Given the description of an element on the screen output the (x, y) to click on. 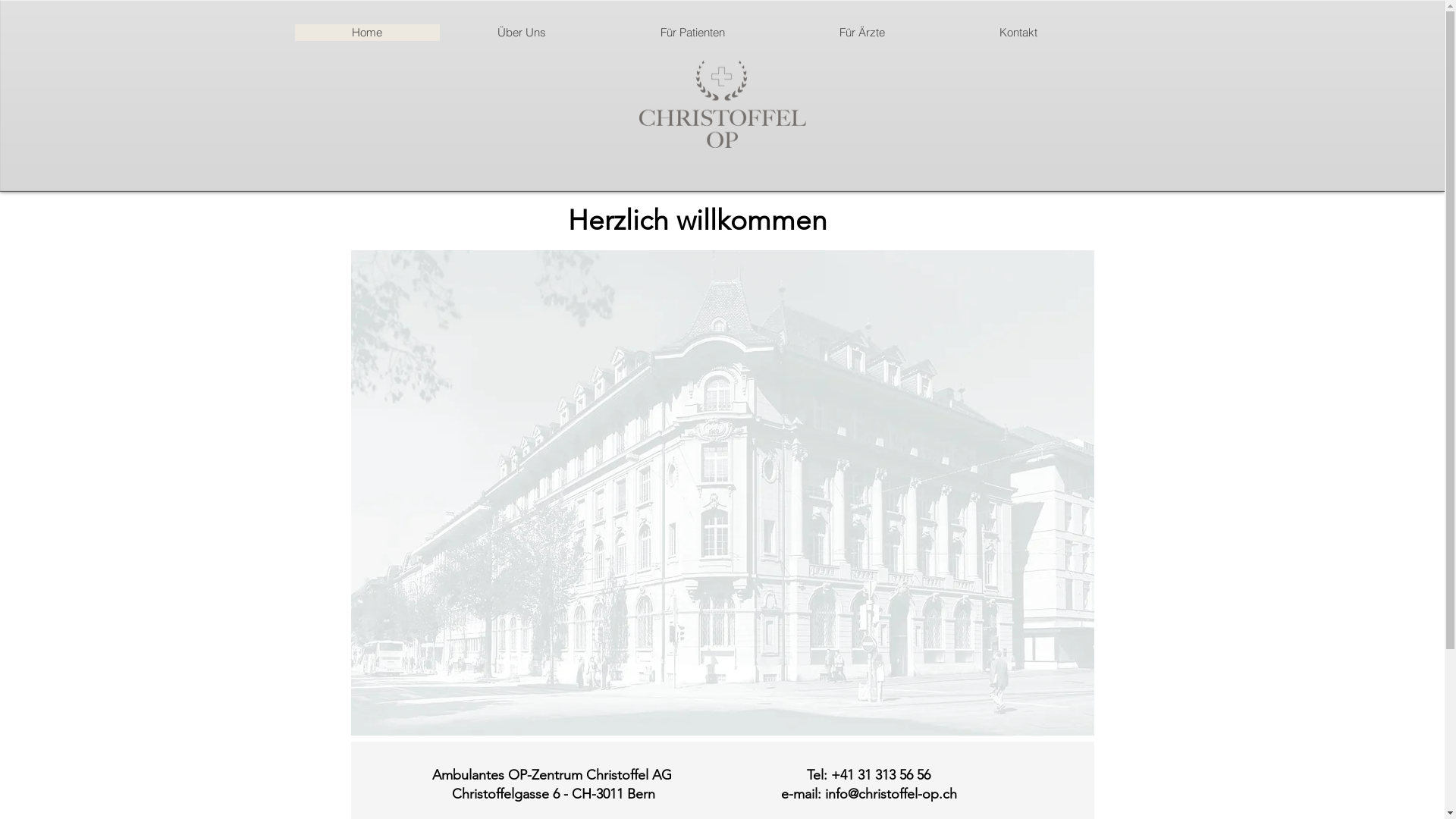
info@christoffel-op.ch Element type: text (891, 793)
Home Element type: text (366, 32)
Kontakt Element type: text (1017, 32)
